Given the description of an element on the screen output the (x, y) to click on. 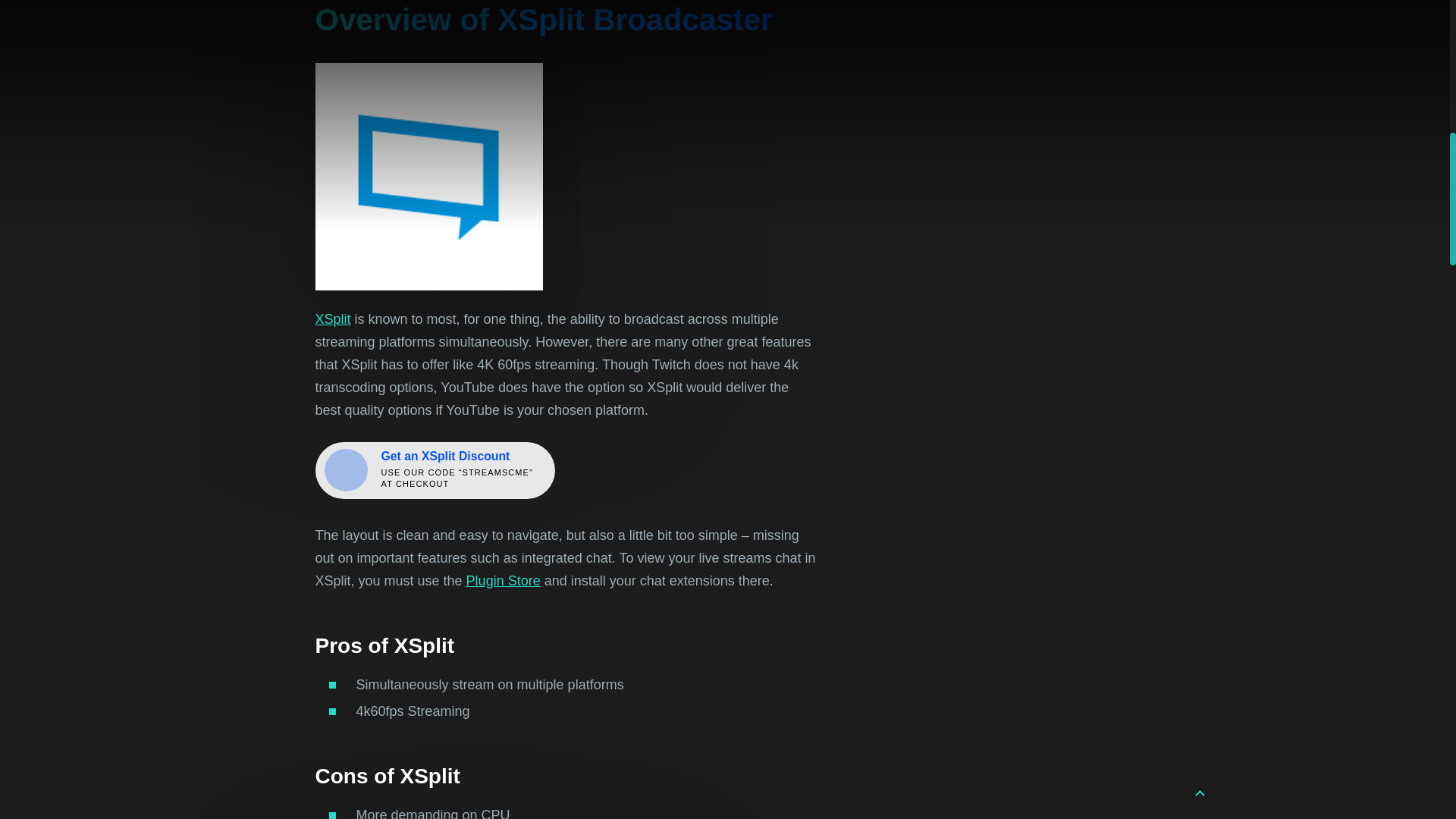
Plugin Store (502, 580)
XSplit (332, 319)
